Given the description of an element on the screen output the (x, y) to click on. 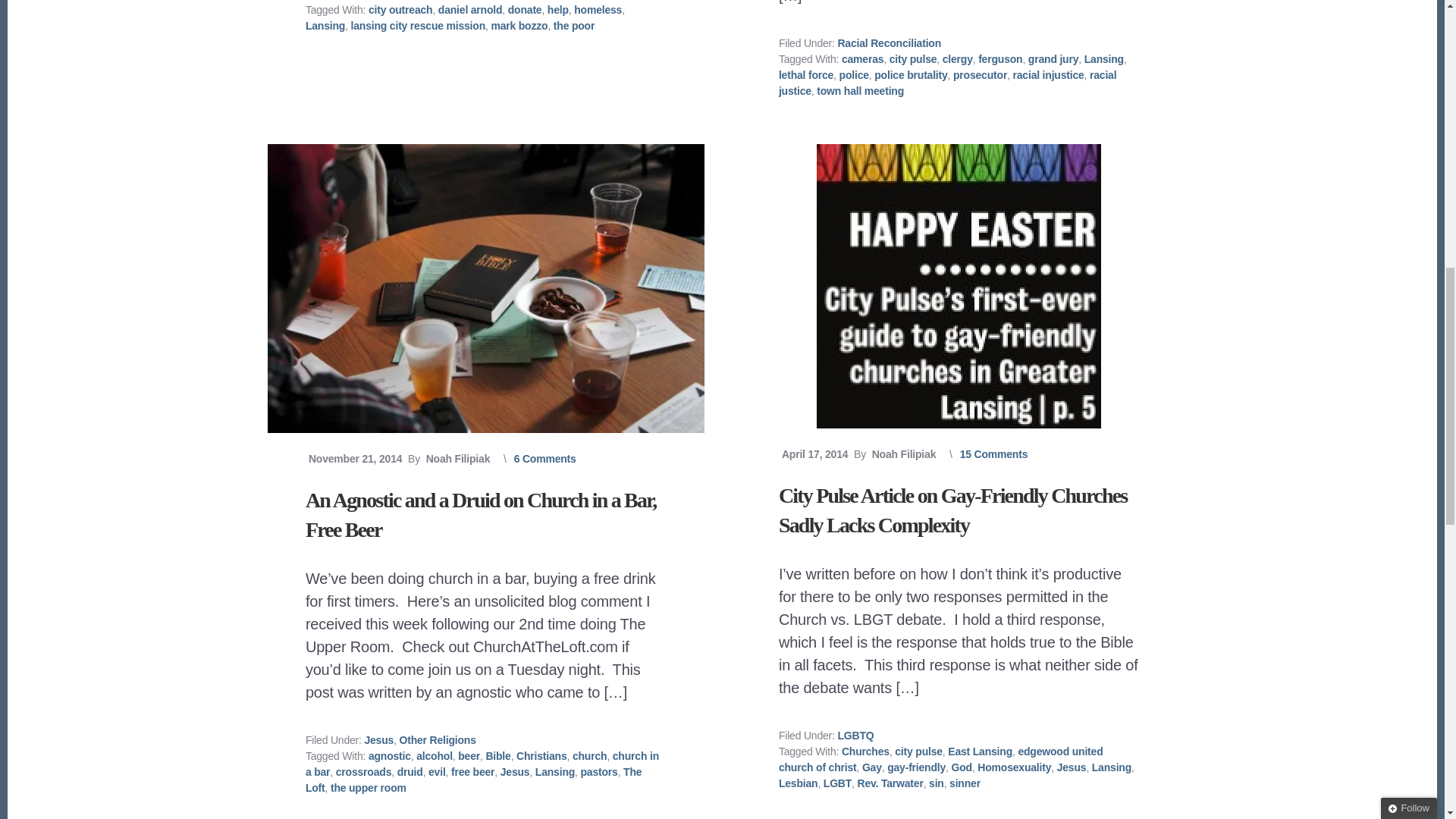
Sign me up! (1356, 158)
Email Address (1358, 130)
